Given the description of an element on the screen output the (x, y) to click on. 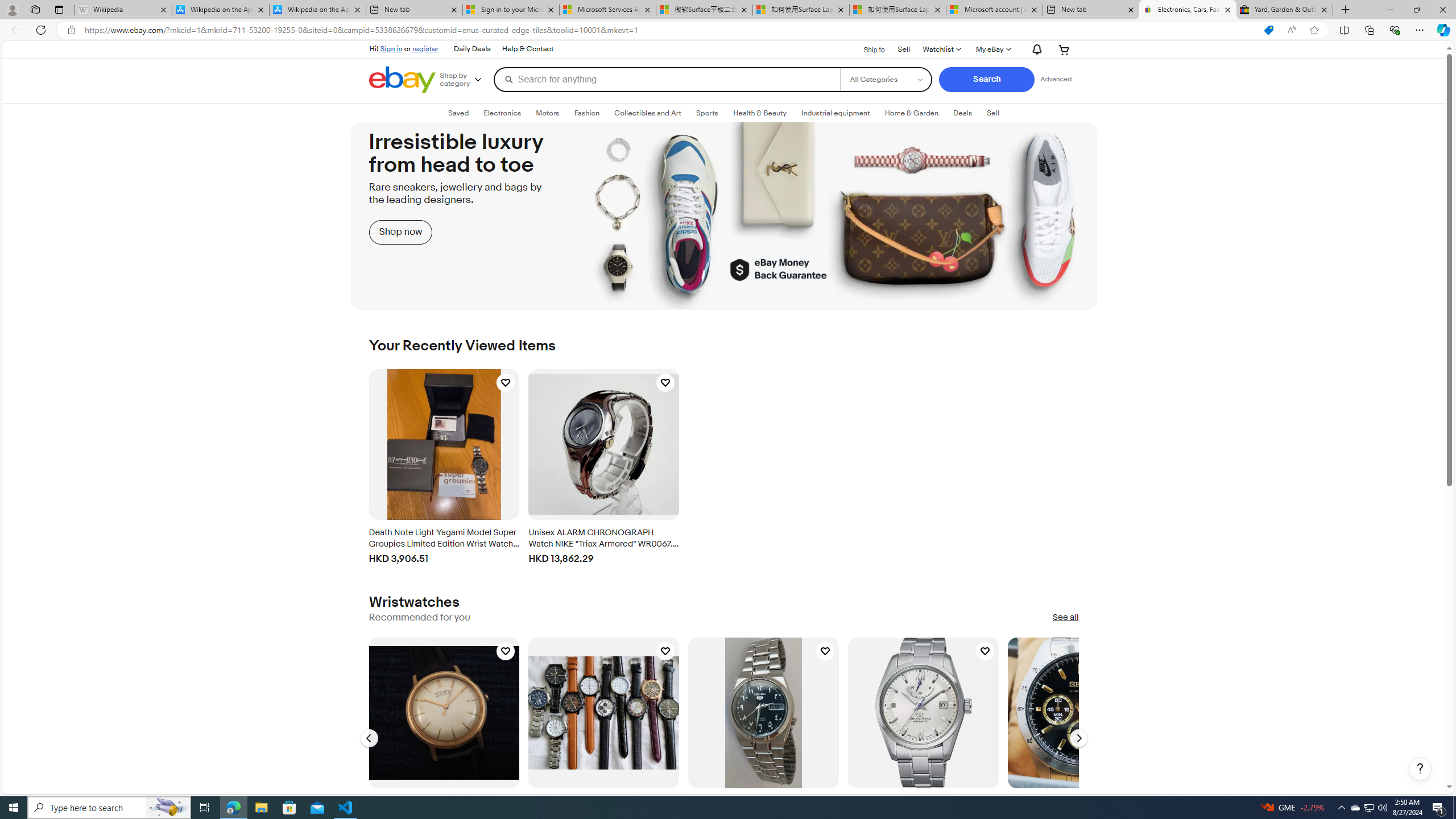
Sports (707, 112)
My eBayExpand My eBay (992, 49)
ElectronicsExpand: Electronics (502, 112)
eBay Home (401, 79)
Yard, Garden & Outdoor Living (1284, 9)
Saved (458, 112)
Irresistible luxury from head to toe (723, 215)
Shop by category (464, 79)
WatchlistExpand Watch List (940, 49)
